Given the description of an element on the screen output the (x, y) to click on. 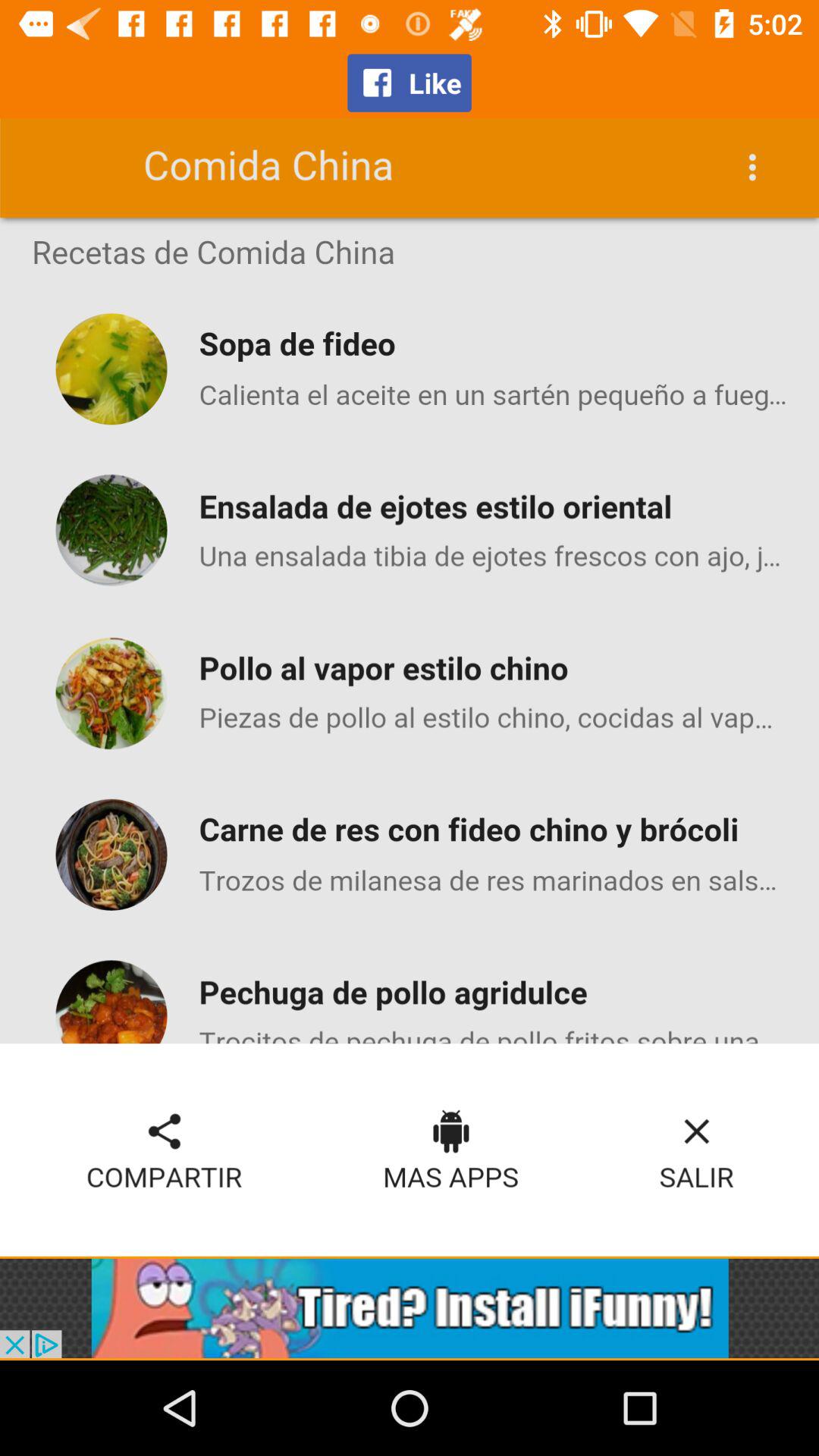
view app (409, 1308)
